Given the description of an element on the screen output the (x, y) to click on. 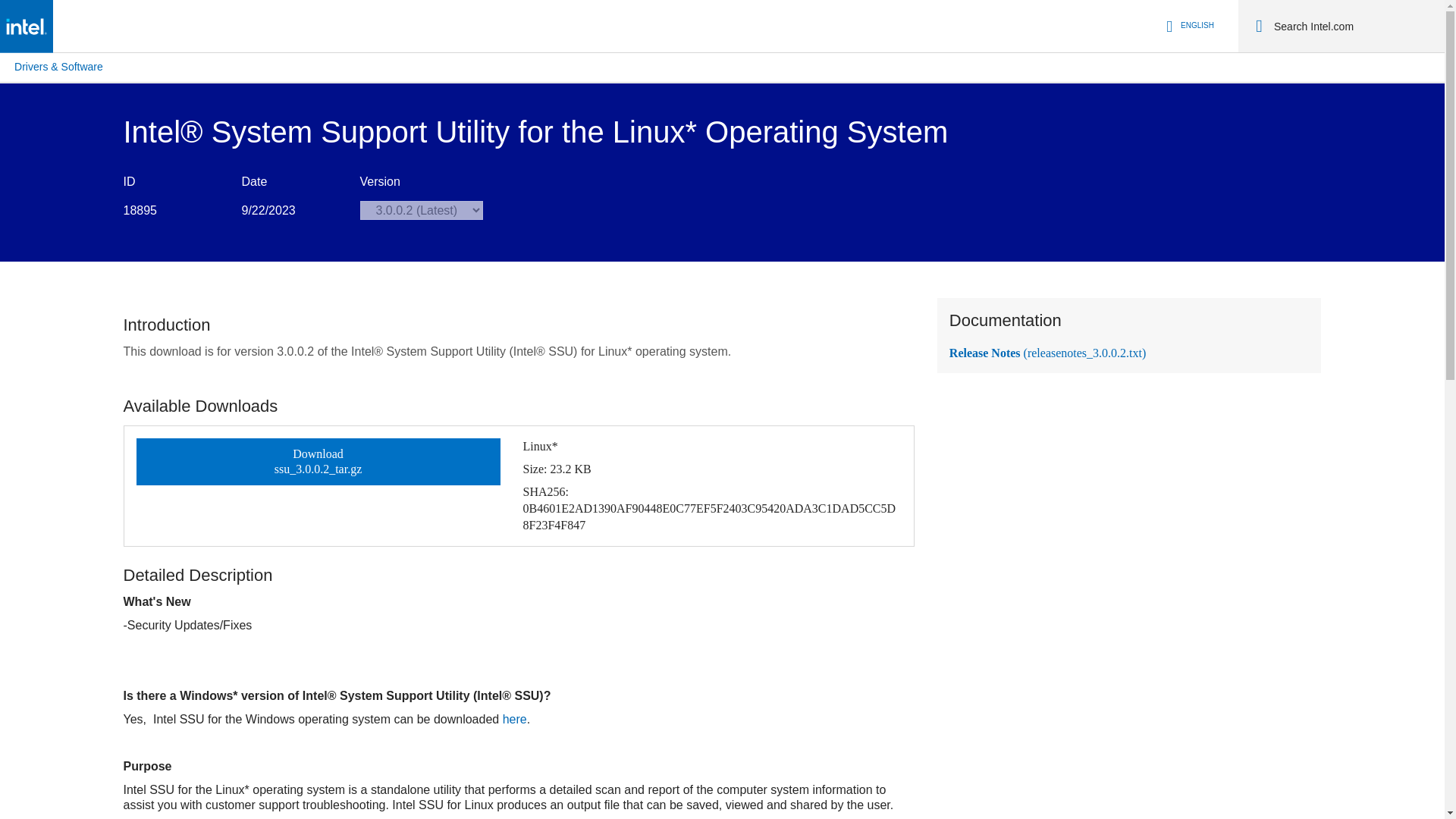
Search (1259, 26)
ENGLISH (1187, 26)
Language Selector (1187, 26)
